Given the description of an element on the screen output the (x, y) to click on. 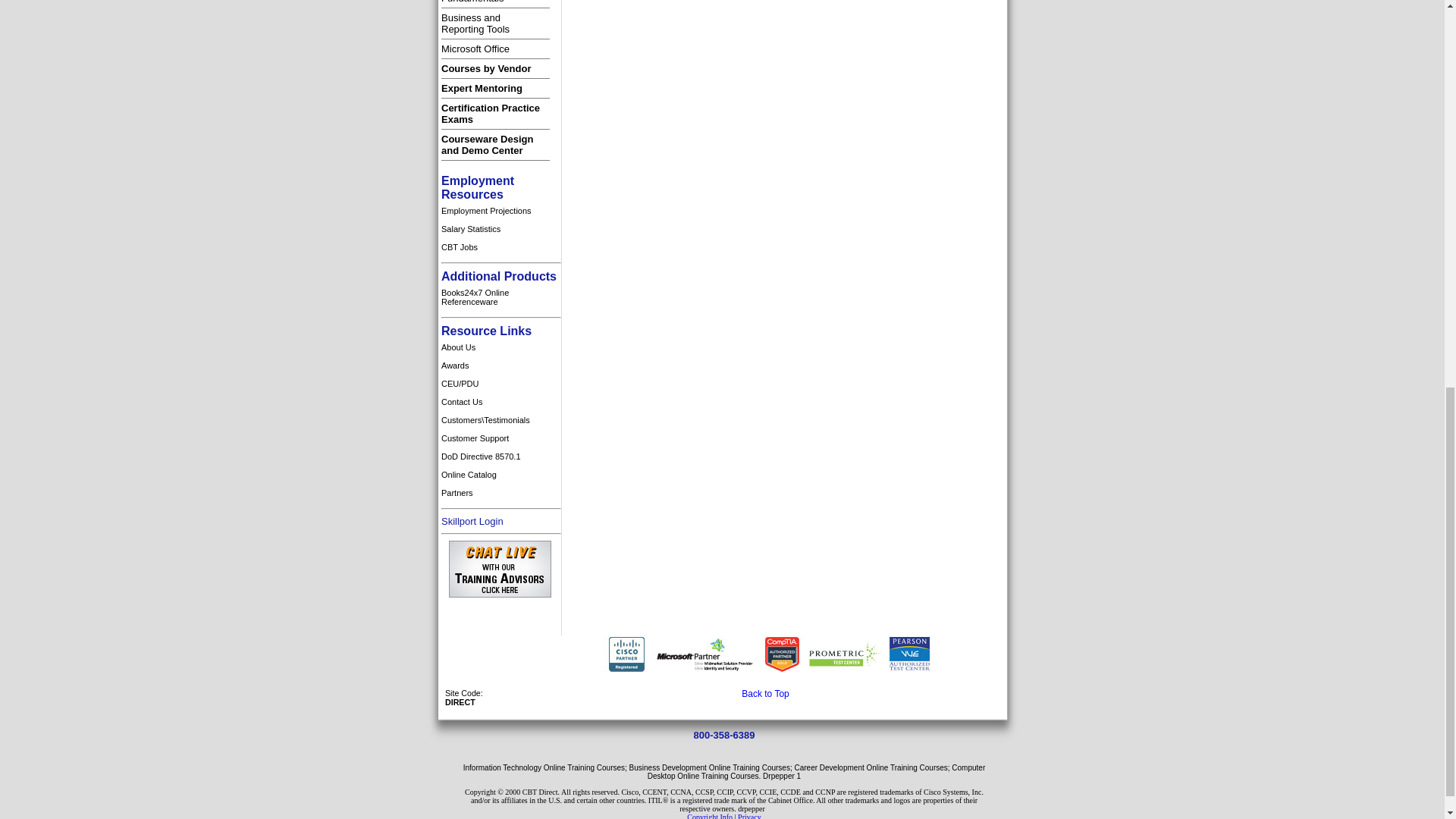
Skillport Login (472, 520)
Partners (500, 493)
Contact Us (500, 402)
Customer Support (500, 438)
CBT Jobs (475, 23)
DoD Directive 8570.1 (500, 247)
About Us (500, 456)
Online Catalog (500, 347)
Certification Practice Exams (500, 475)
